Given the description of an element on the screen output the (x, y) to click on. 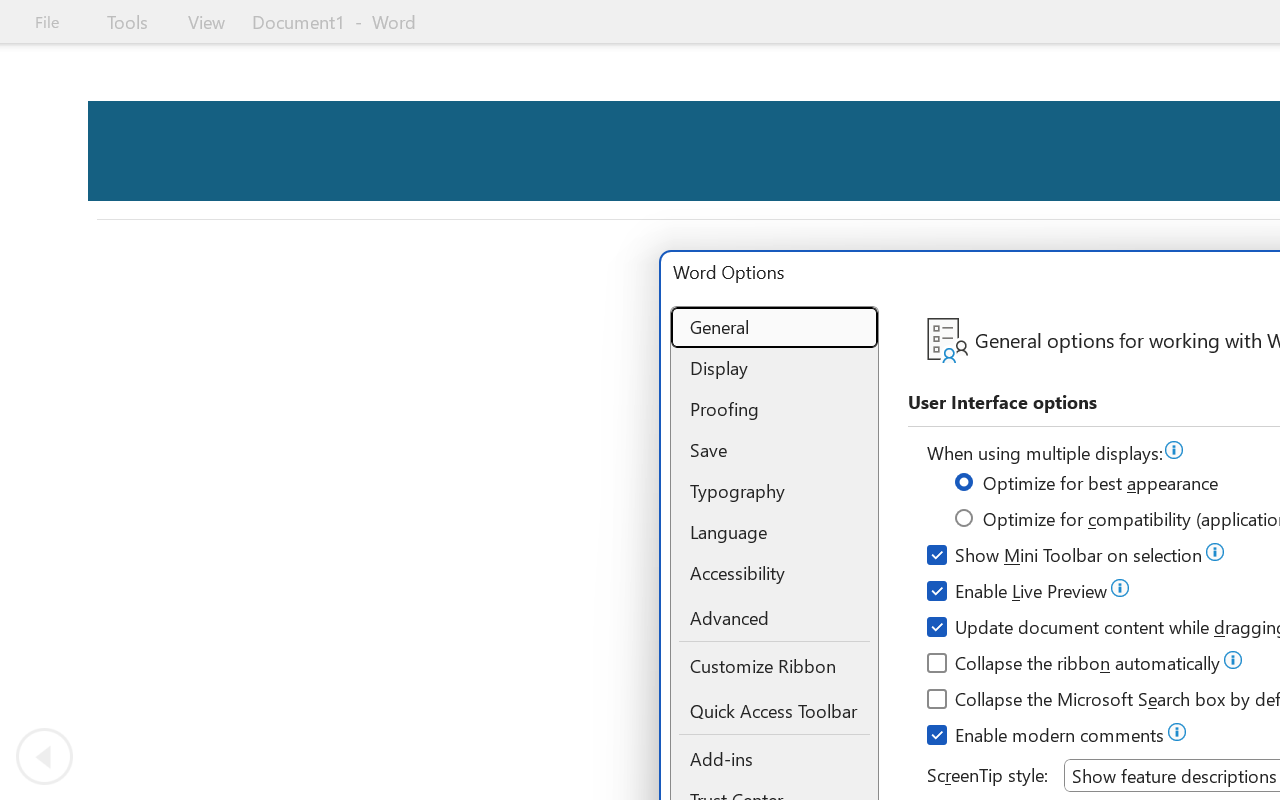
Advanced (774, 619)
Language (774, 532)
Typography (774, 491)
General (774, 327)
Optimize for best appearance (1088, 486)
Show Mini Toolbar on selection (1065, 558)
Add-ins (774, 759)
Collapse the ribbon automatically (1074, 666)
Enable modern comments (1046, 738)
Accessibility (774, 572)
Display (774, 368)
